Given the description of an element on the screen output the (x, y) to click on. 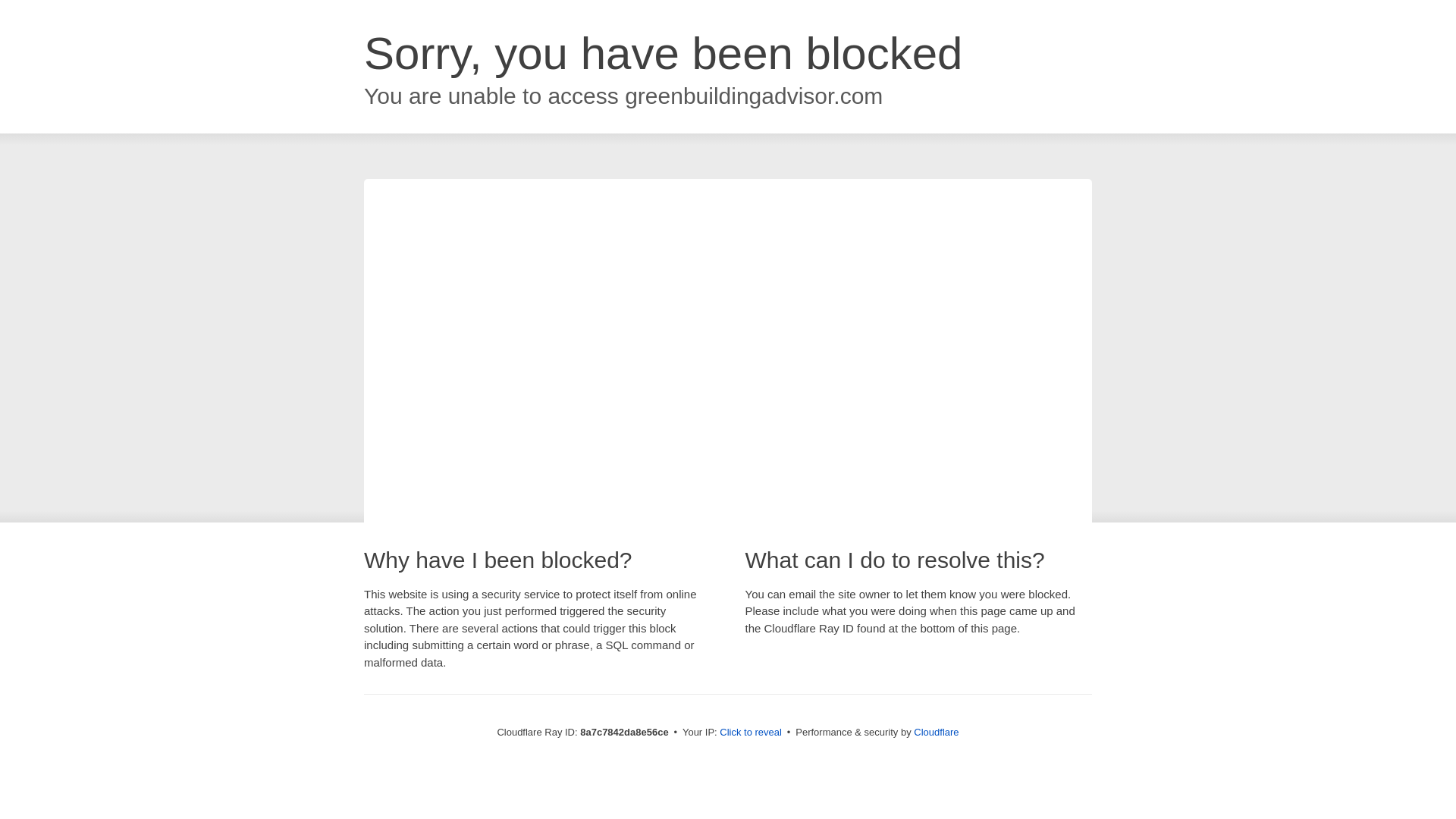
Cloudflare (936, 731)
Click to reveal (750, 732)
